Given the description of an element on the screen output the (x, y) to click on. 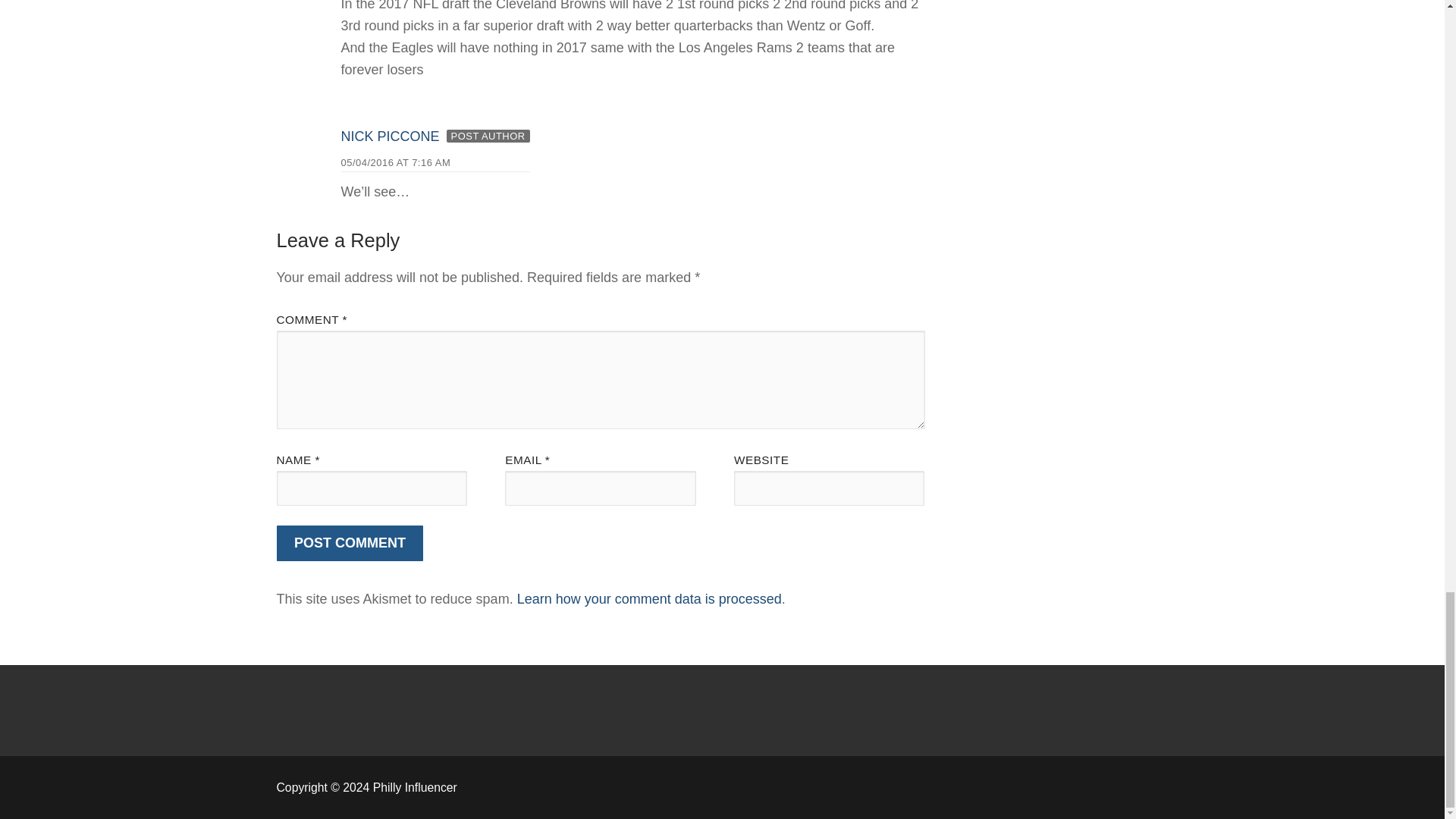
Post Comment (349, 543)
